Given the description of an element on the screen output the (x, y) to click on. 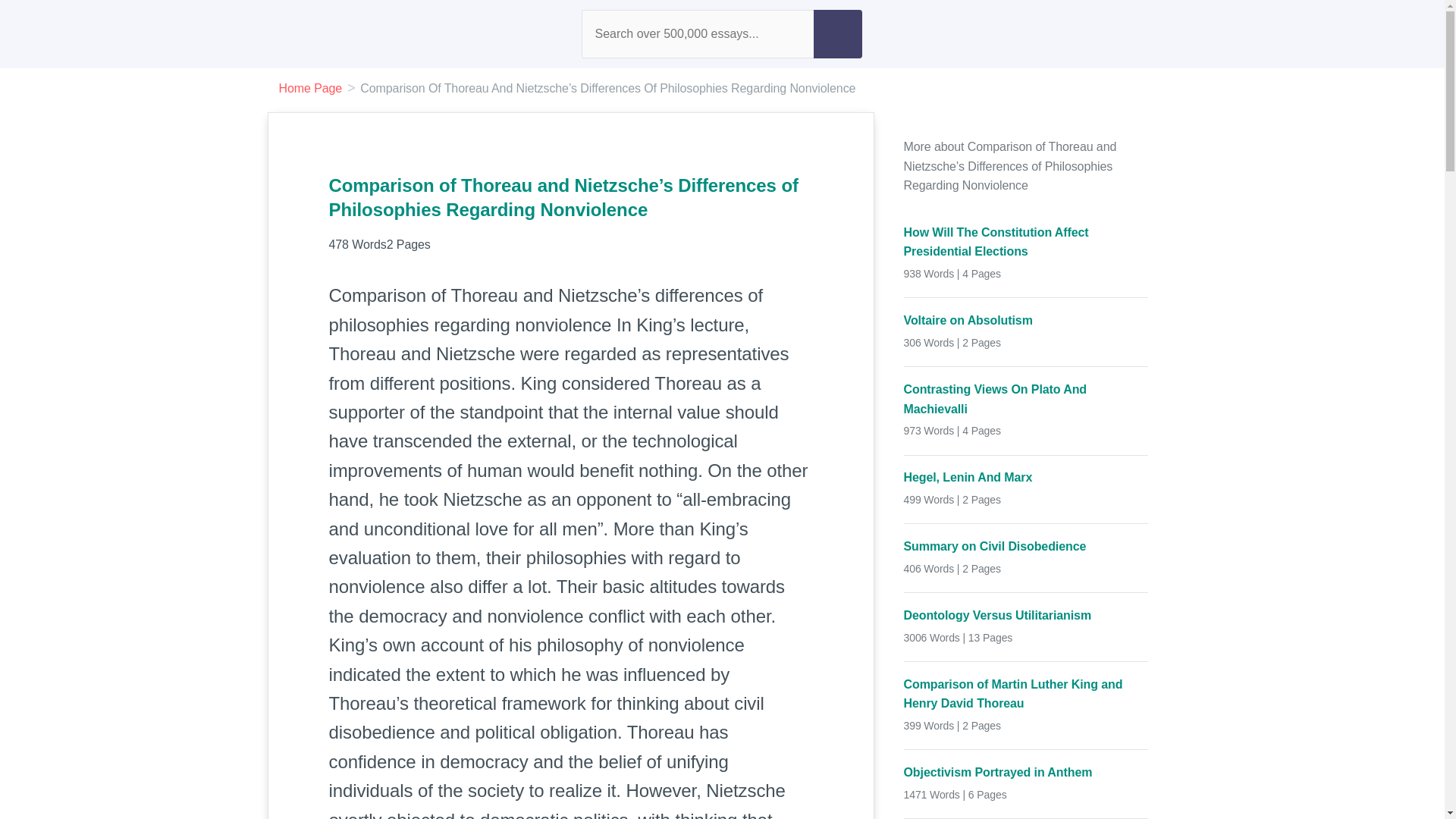
Home Page (310, 88)
Hegel, Lenin And Marx (1026, 477)
Contrasting Views On Plato And Machievalli (1026, 399)
Objectivism Portrayed in Anthem (1026, 772)
Voltaire on Absolutism (1026, 320)
Deontology Versus Utilitarianism (1026, 615)
How Will The Constitution Affect Presidential Elections (1026, 241)
Comparison of Martin Luther King and Henry David Thoreau (1026, 693)
Summary on Civil Disobedience (1026, 546)
